Given the description of an element on the screen output the (x, y) to click on. 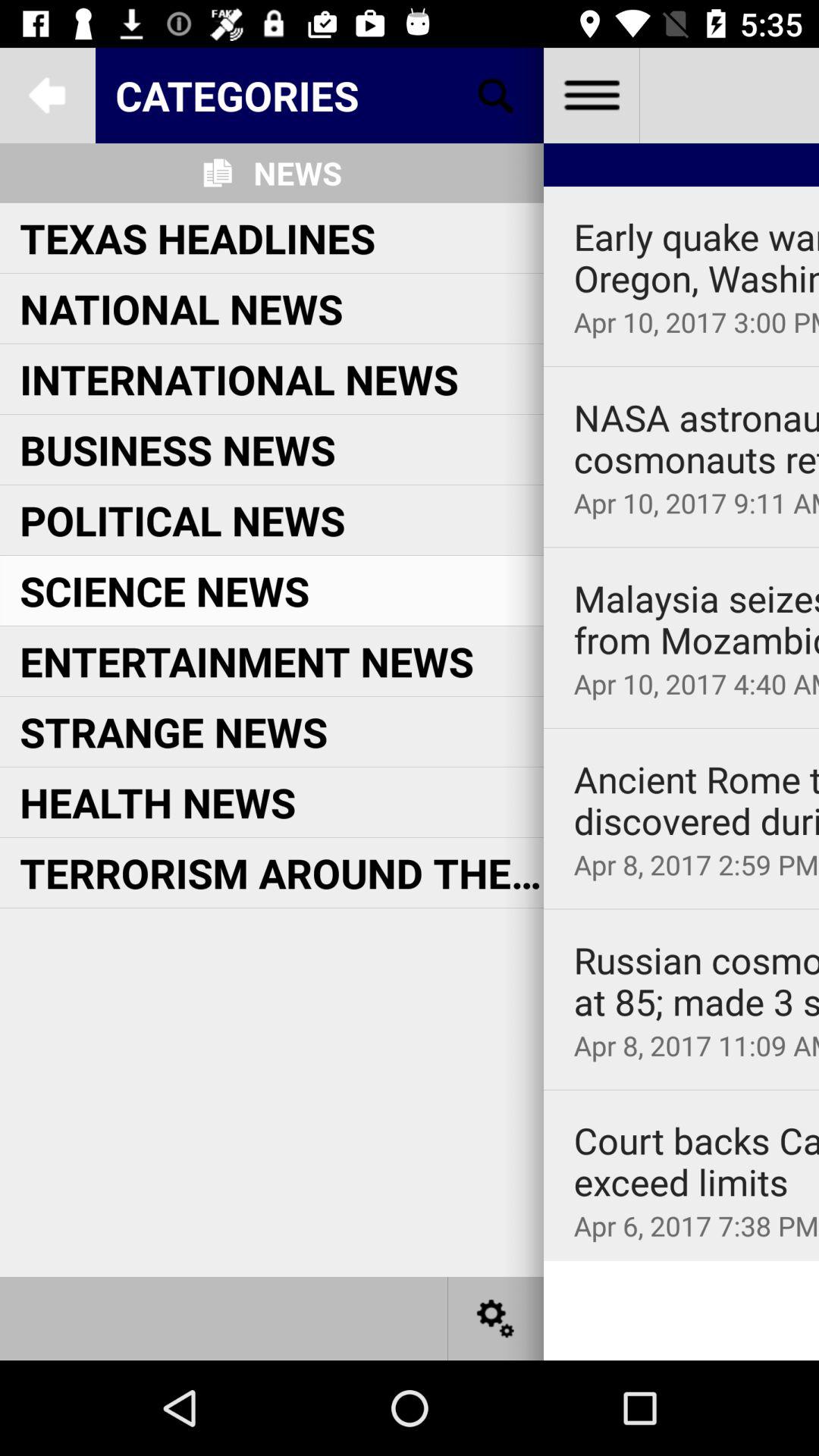
jump to strange news item (173, 731)
